Given the description of an element on the screen output the (x, y) to click on. 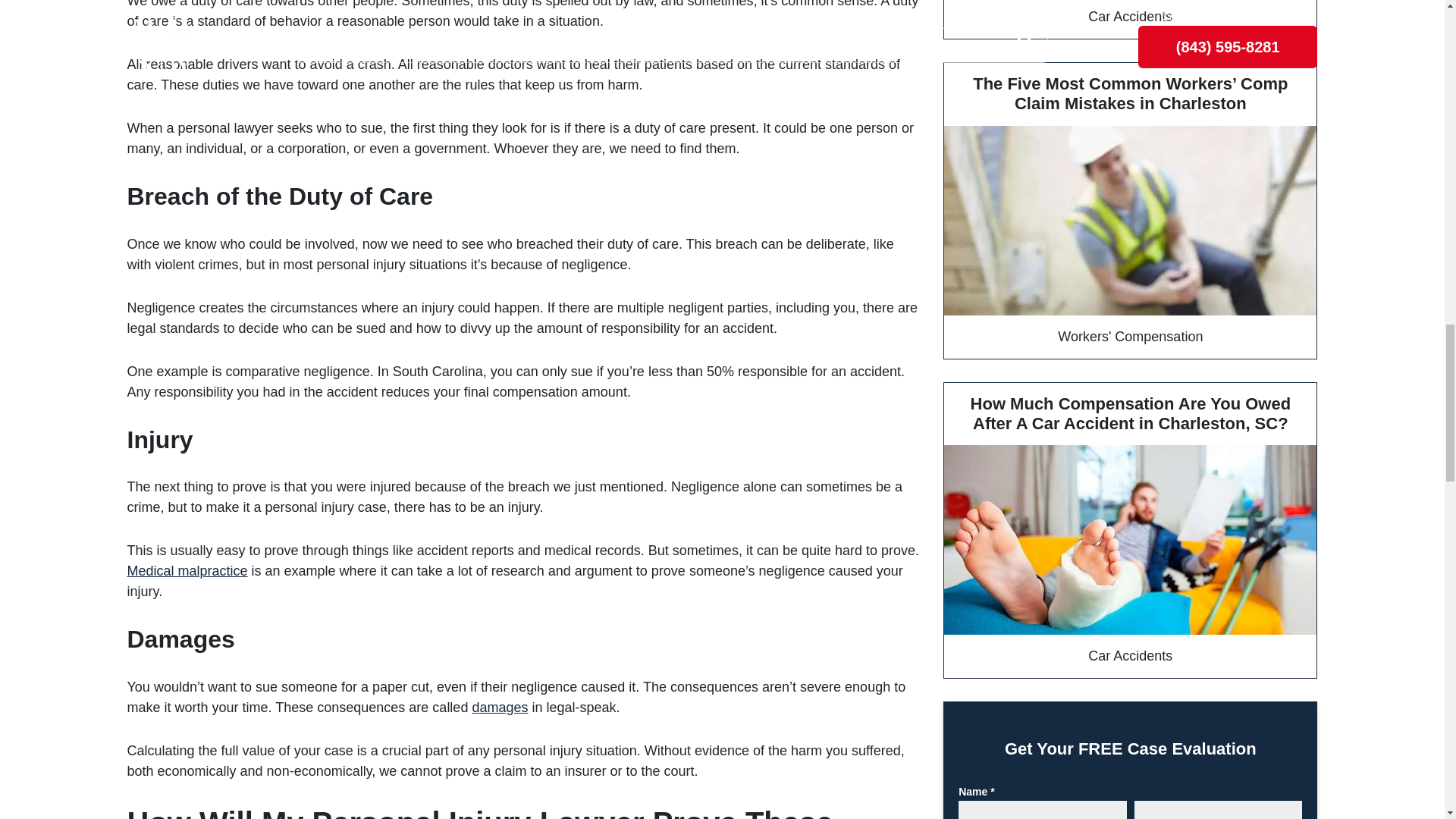
FCC Publishes Article on Texting and Driving (1130, 19)
